Given the description of an element on the screen output the (x, y) to click on. 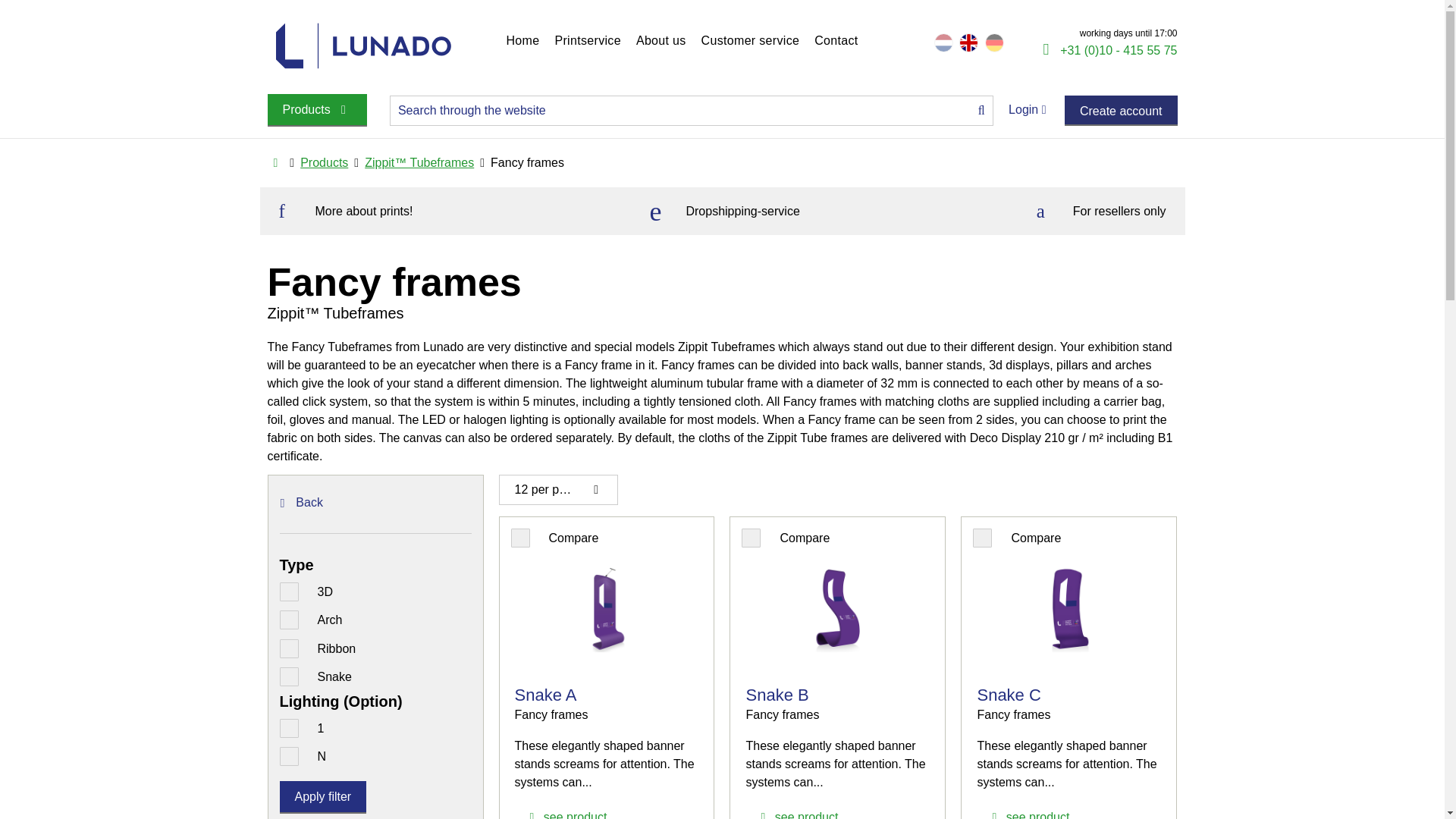
Germany (994, 42)
United Kingdom (968, 42)
